Given the description of an element on the screen output the (x, y) to click on. 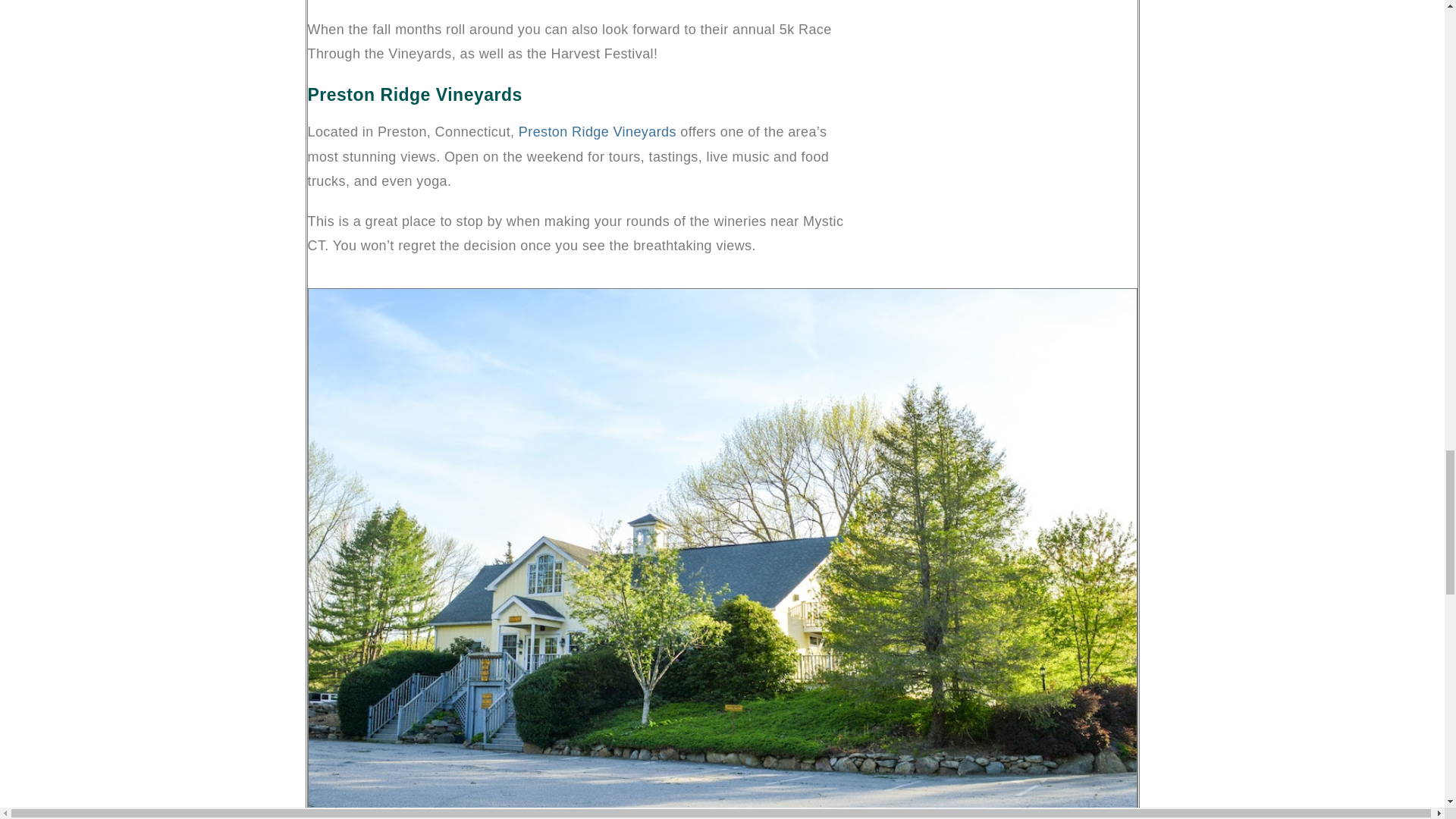
Preston Ridge Vineyards (597, 131)
